Given the description of an element on the screen output the (x, y) to click on. 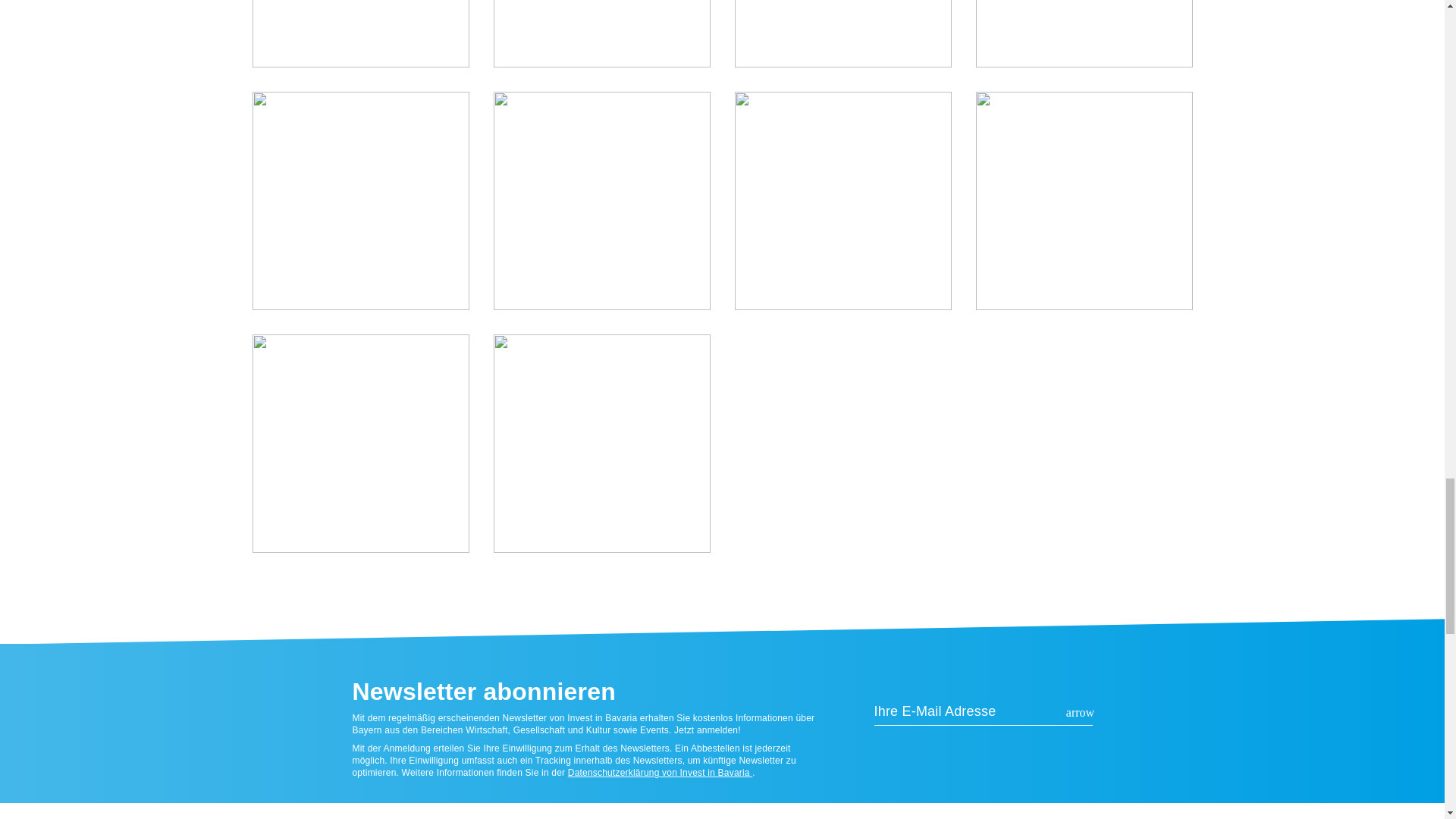
arrow (1079, 712)
